Given the description of an element on the screen output the (x, y) to click on. 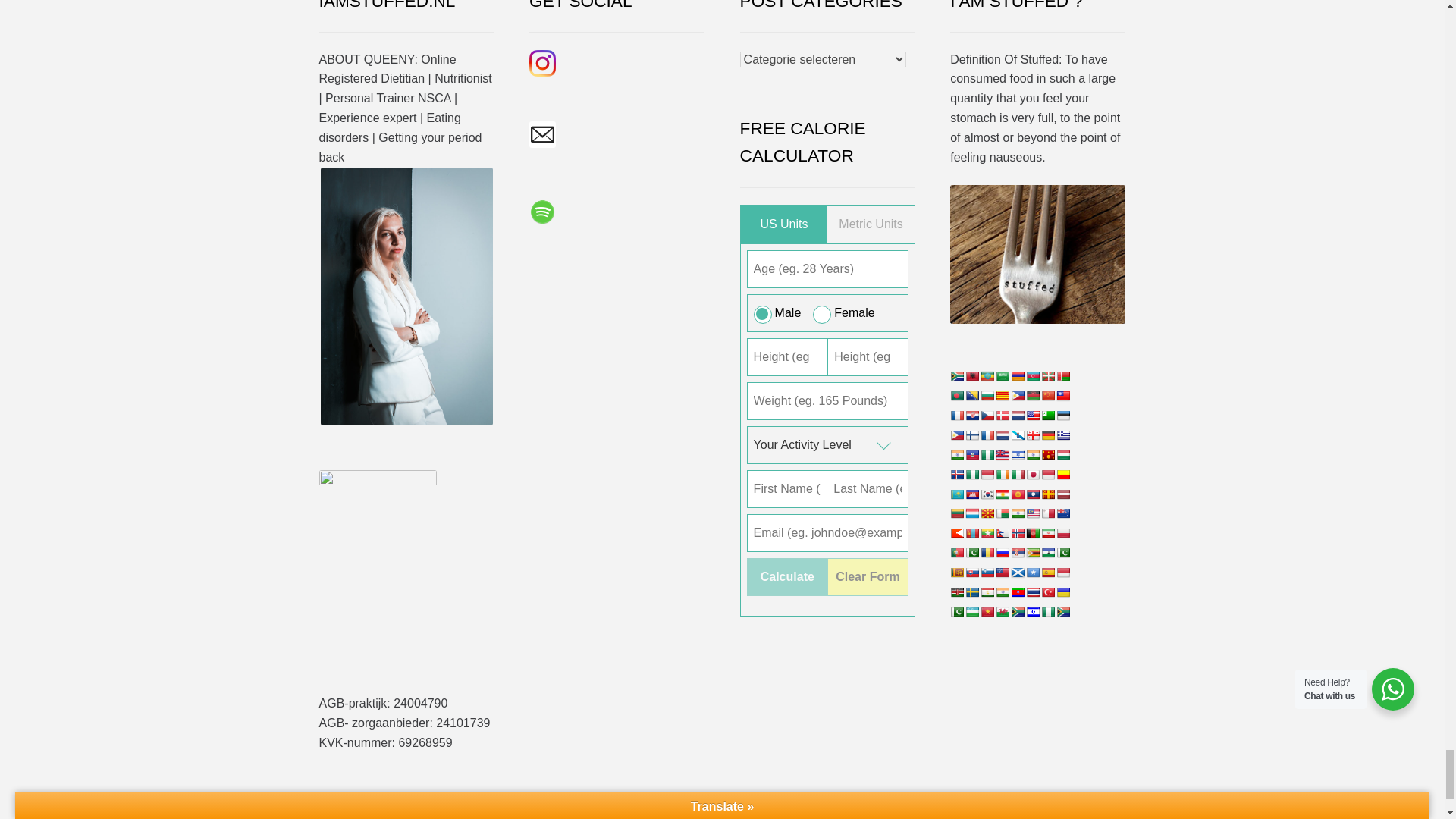
Amharic (986, 376)
Catalan (1002, 395)
Armenian (1017, 376)
Chichewa (1032, 395)
Cebuano (1017, 395)
Calculate (786, 576)
Afrikaans (956, 376)
Azerbaijani (1032, 376)
Bengali (956, 395)
Clear Form (867, 576)
Arabic (1002, 376)
Belarusian (1063, 376)
Albanian (971, 376)
Basque (1047, 376)
Bulgarian (986, 395)
